Given the description of an element on the screen output the (x, y) to click on. 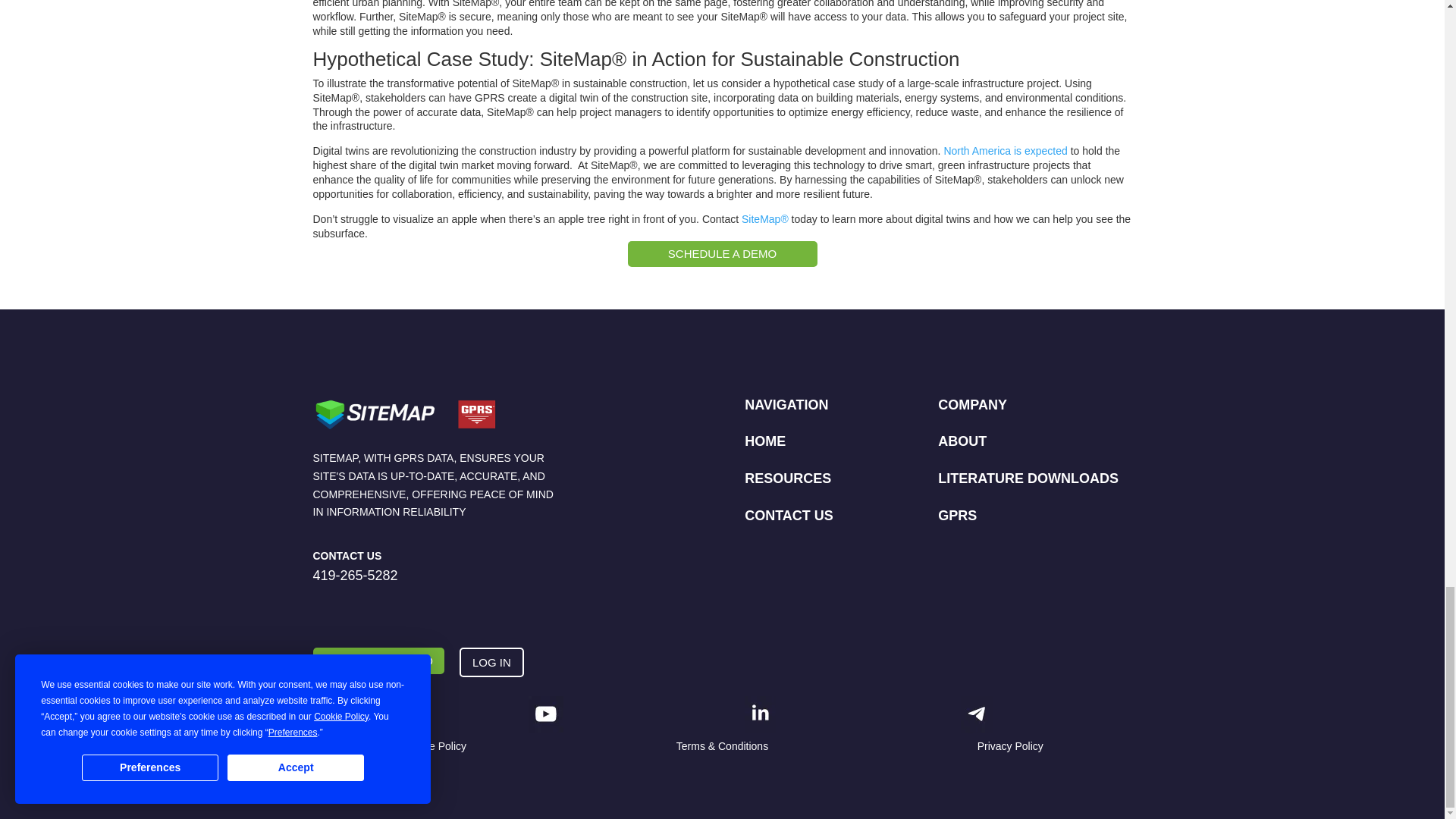
ABOUT (962, 441)
HOME (765, 441)
SCHEDULE A DEMO (721, 253)
LITERATURE DOWNLOADS (1027, 478)
419-265-5282 (355, 575)
RESOURCES (787, 478)
LOG IN (492, 662)
North America is expected (1005, 150)
GPRS small (329, 714)
youtube small (545, 714)
